Given the description of an element on the screen output the (x, y) to click on. 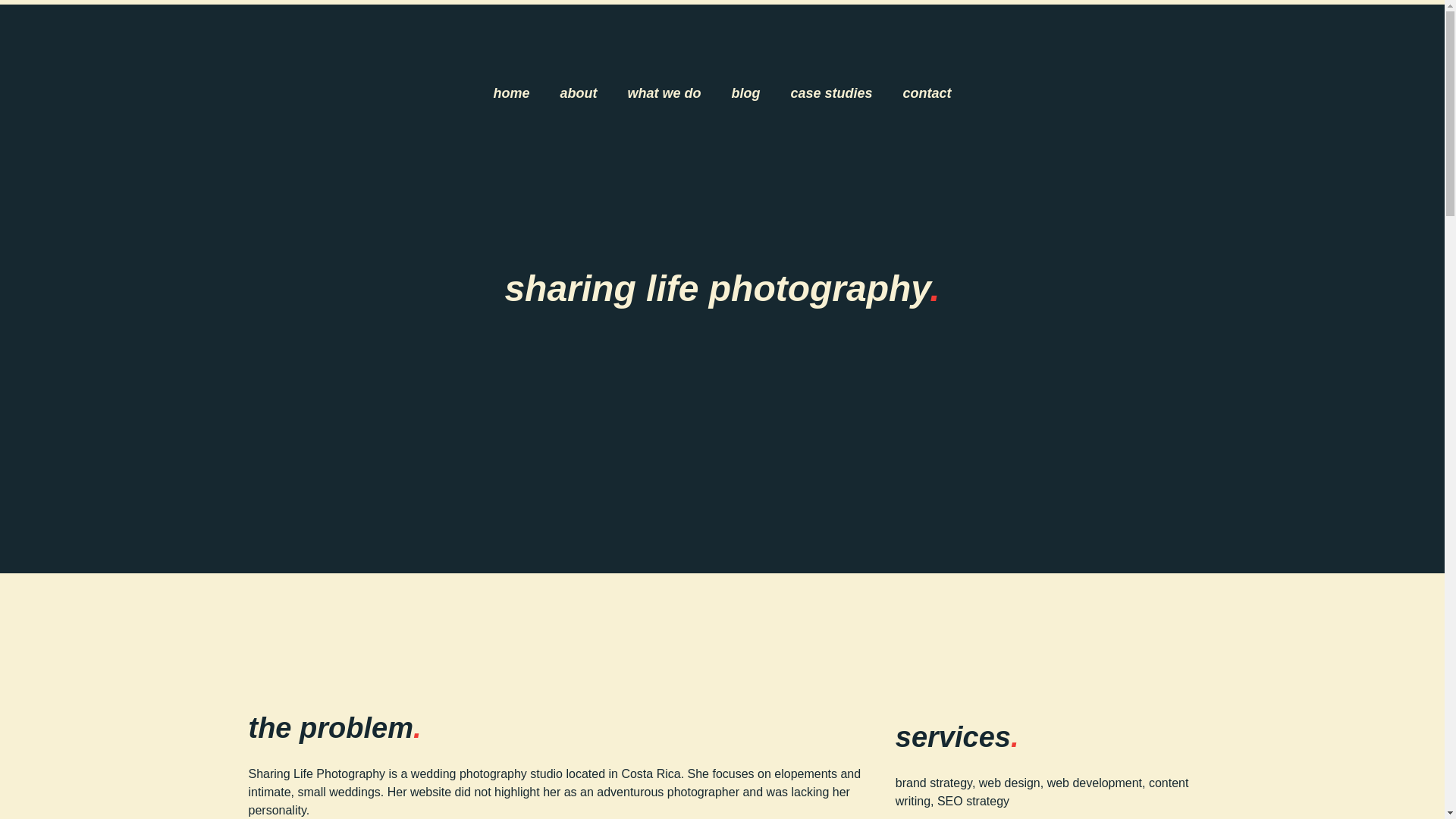
what we do (663, 93)
about (577, 93)
blog (745, 93)
home (510, 93)
case studies (830, 93)
contact (927, 93)
